Given the description of an element on the screen output the (x, y) to click on. 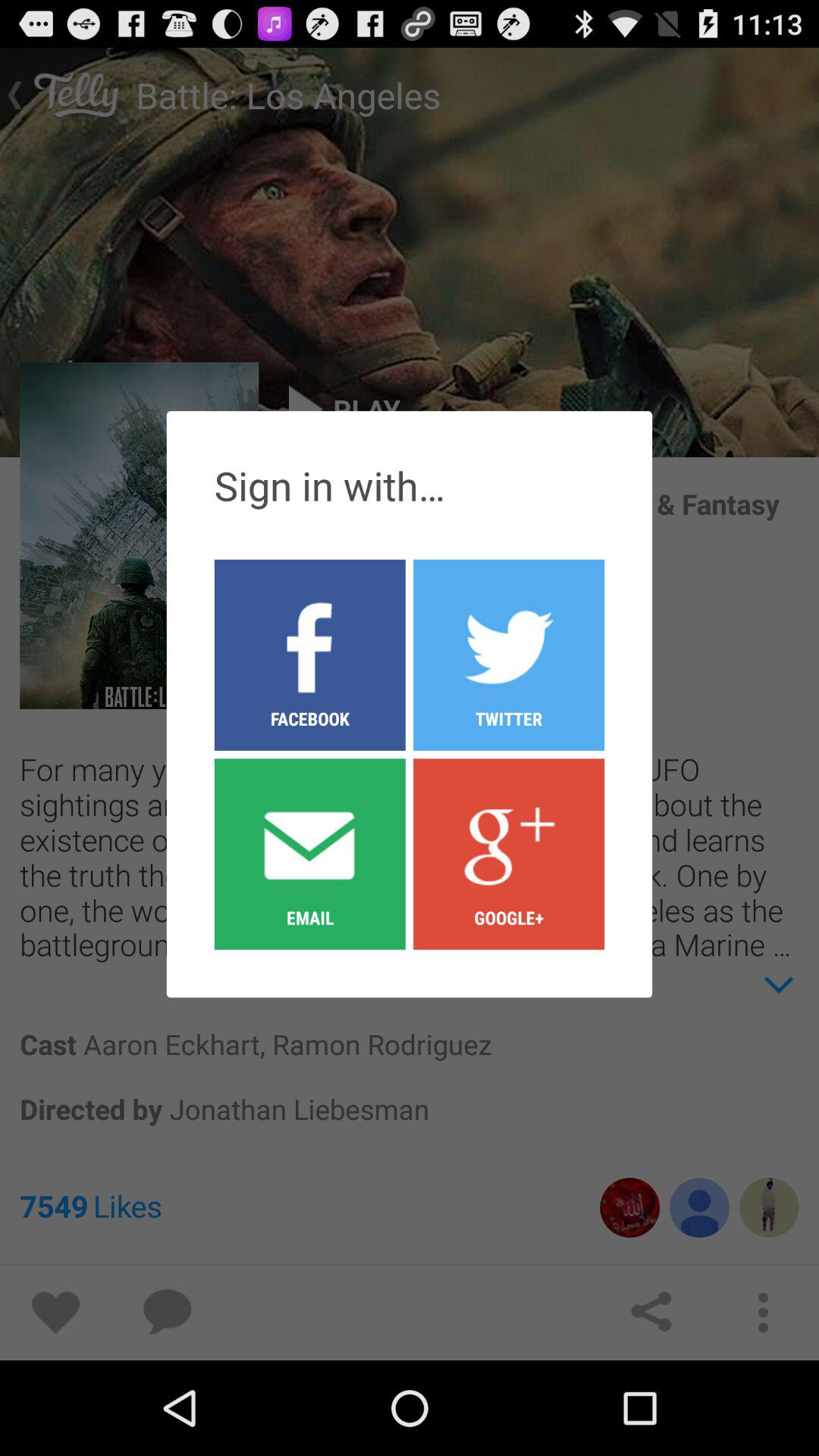
scroll until twitter (508, 654)
